Given the description of an element on the screen output the (x, y) to click on. 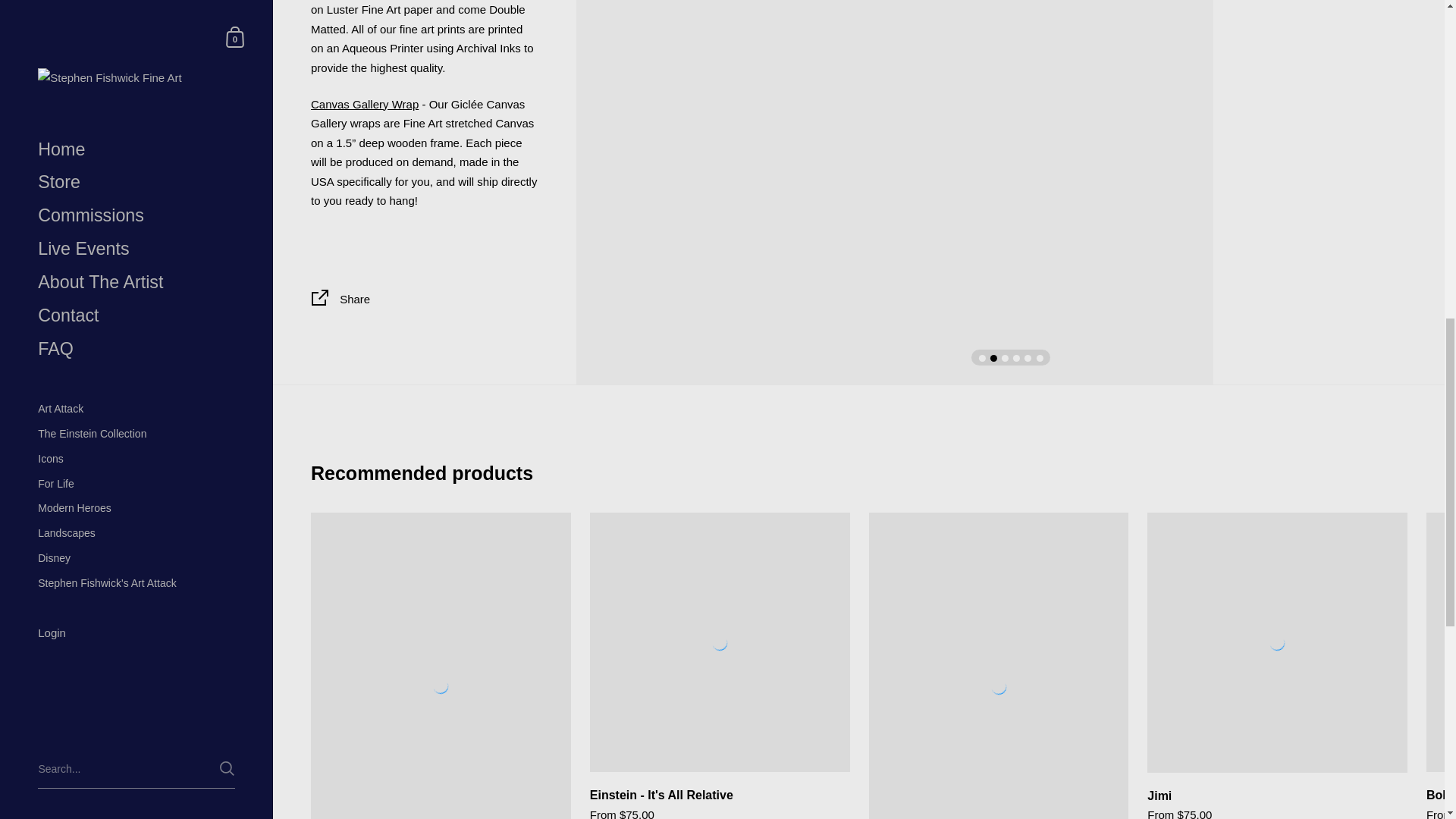
Share (424, 300)
